Given the description of an element on the screen output the (x, y) to click on. 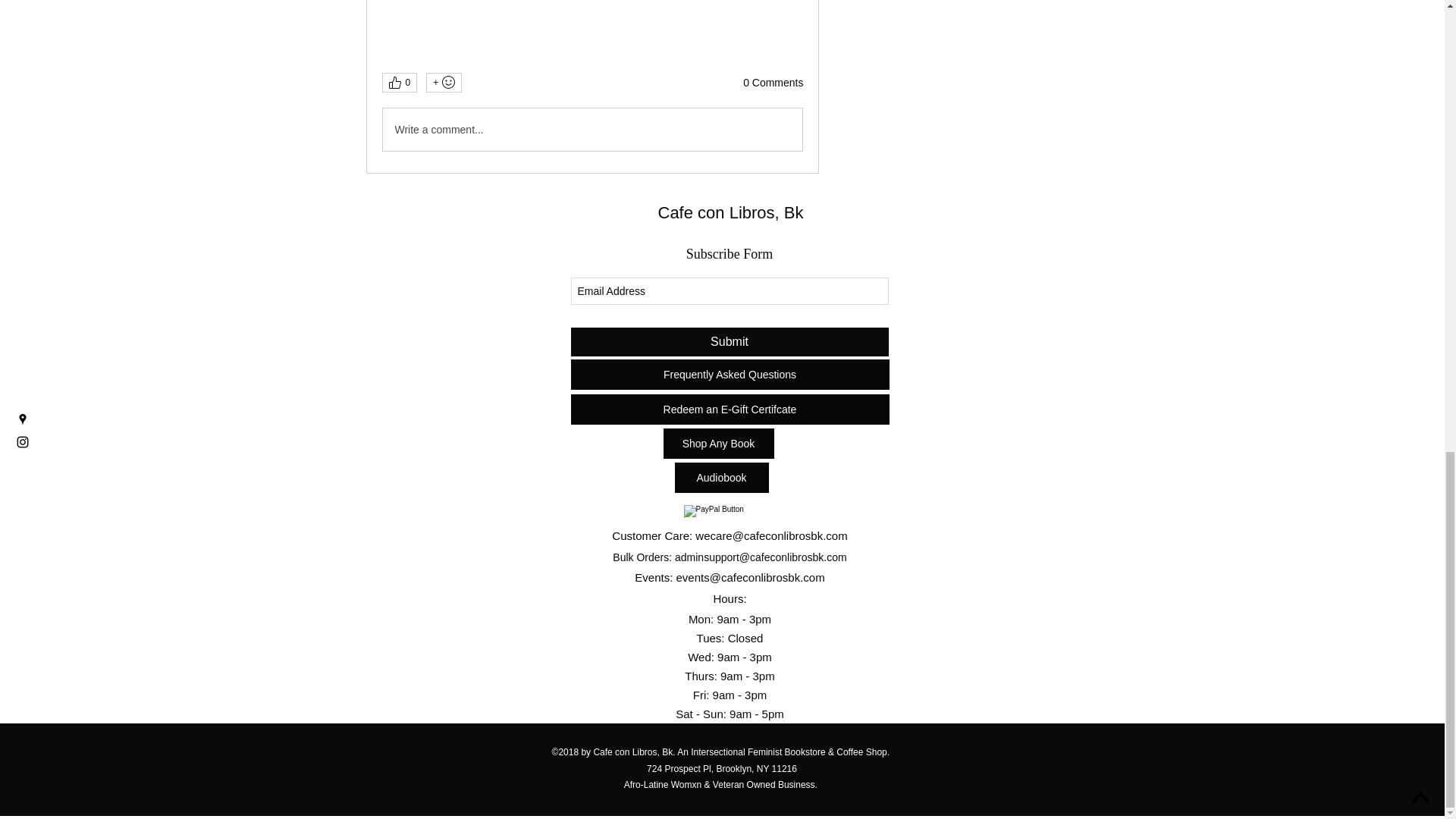
Write a comment... (591, 129)
0 Comments (772, 83)
